Given the description of an element on the screen output the (x, y) to click on. 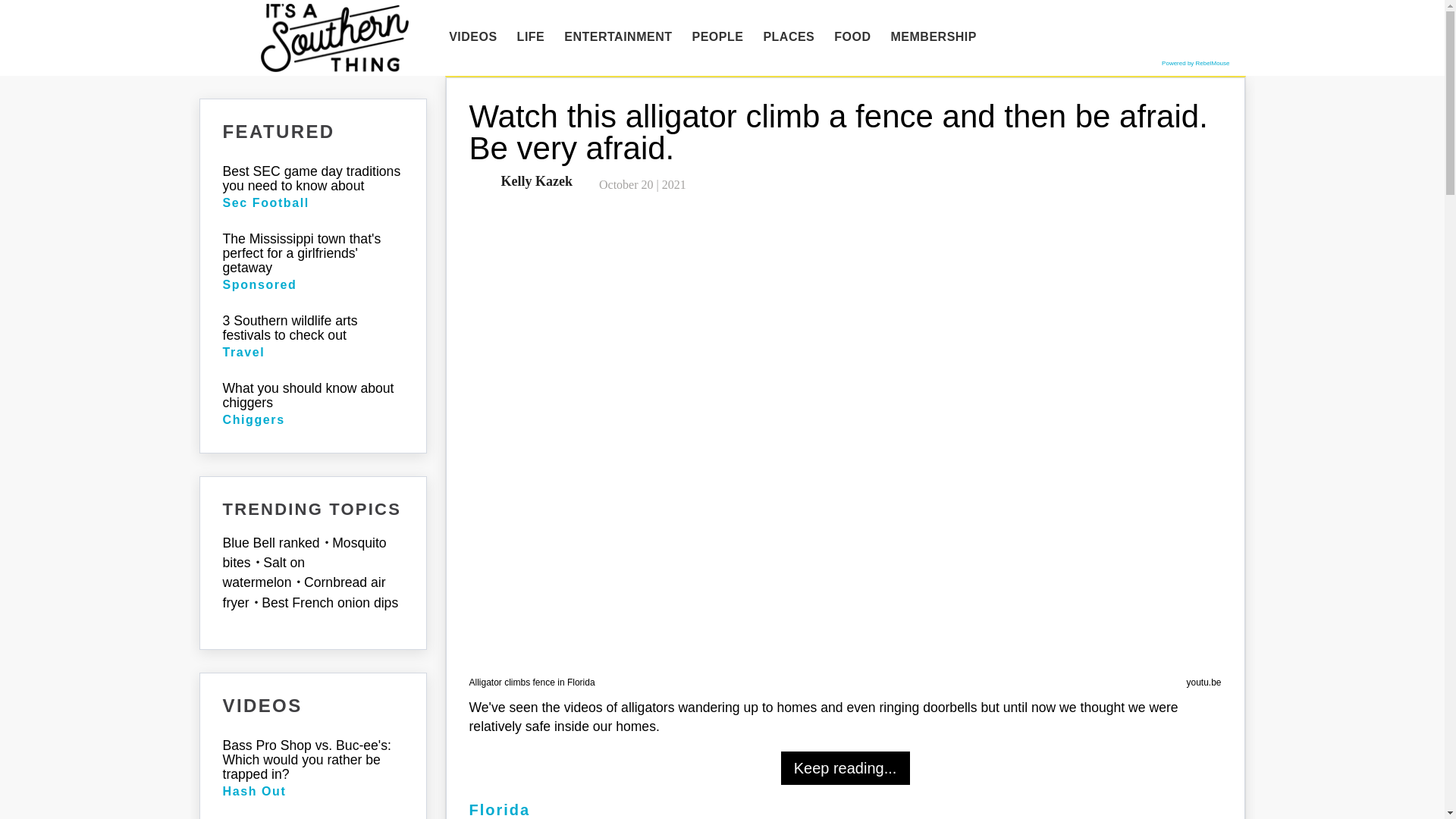
ENTERTAINMENT (617, 36)
Kelly Kazek (533, 181)
Best CMS  (1194, 62)
LIFE (530, 36)
FOOD (852, 36)
PEOPLE (716, 36)
PLACES (788, 36)
Florida (498, 809)
VIDEOS (472, 36)
youtu.be (1203, 682)
